Given the description of an element on the screen output the (x, y) to click on. 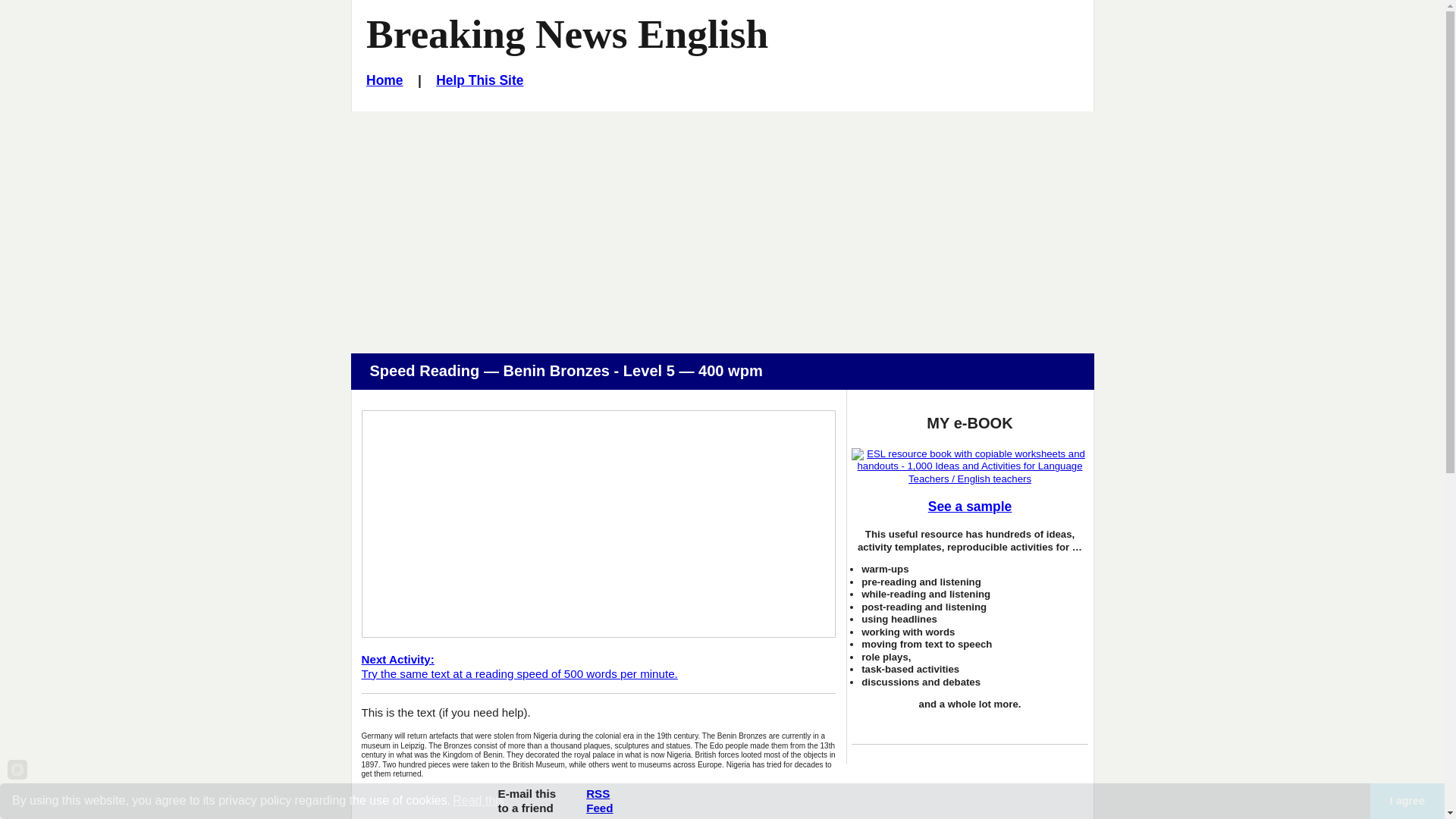
Help This Site (526, 803)
See a sample (478, 79)
Breaking News English (969, 506)
... to a friend, student, colleague... (567, 33)
Home (526, 803)
Subscribe to my feed (384, 79)
Advertisement (599, 800)
